Given the description of an element on the screen output the (x, y) to click on. 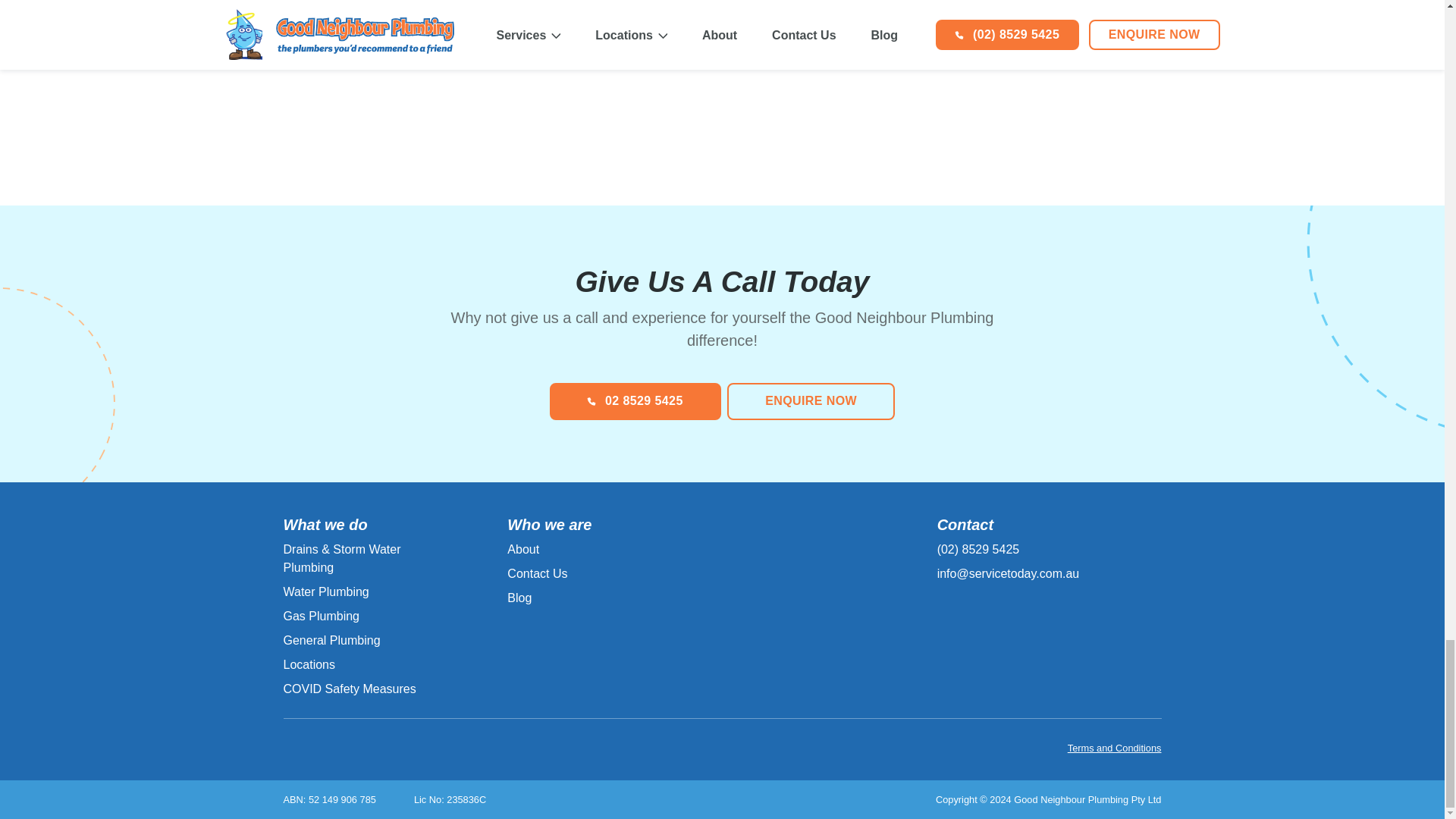
Locations (309, 664)
ENQUIRE NOW (810, 401)
Water Plumbing (326, 591)
Gas Plumbing (321, 615)
COVID Safety Measures (349, 688)
General Plumbing (331, 640)
02 8529 5425 (635, 401)
